Given the description of an element on the screen output the (x, y) to click on. 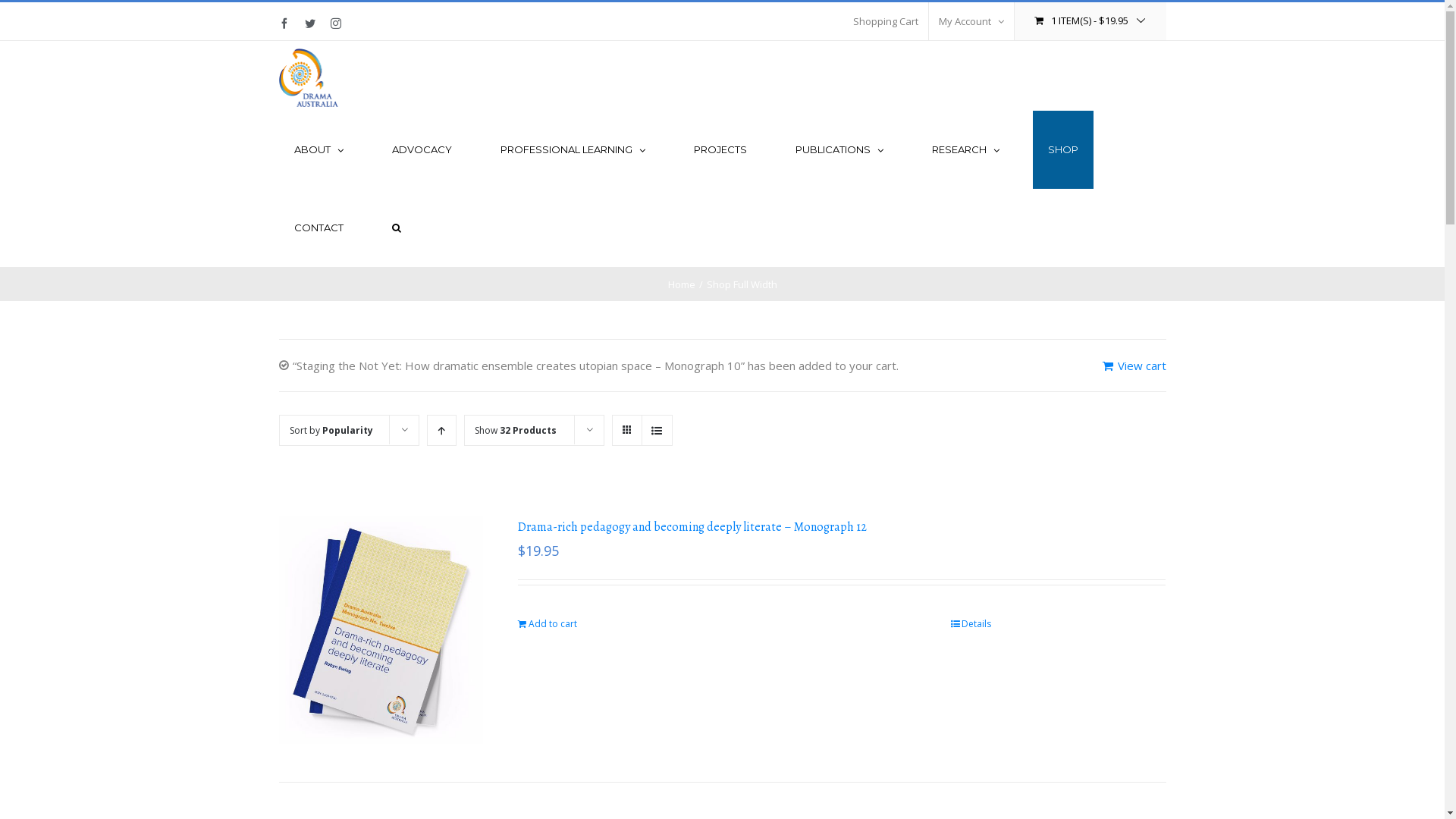
My Account Element type: text (970, 21)
ABOUT Element type: text (318, 149)
Twitter Element type: text (309, 23)
Search Element type: hover (395, 227)
PROFESSIONAL LEARNING Element type: text (572, 149)
View cart Element type: text (1134, 365)
CONTACT Element type: text (318, 227)
RESEARCH Element type: text (964, 149)
Add to cart Element type: text (547, 623)
PUBLICATIONS Element type: text (838, 149)
Show 32 Products Element type: text (515, 429)
Instagram Element type: text (335, 23)
Home Element type: text (680, 284)
SHOP Element type: text (1062, 149)
Sort by Popularity Element type: text (331, 429)
Facebook Element type: text (284, 23)
Details Element type: text (970, 623)
ADVOCACY Element type: text (421, 149)
Log In Element type: text (1032, 165)
PROJECTS Element type: text (719, 149)
Shopping Cart Element type: text (885, 21)
1 ITEM(S) - $19.95 Element type: text (1090, 21)
